Given the description of an element on the screen output the (x, y) to click on. 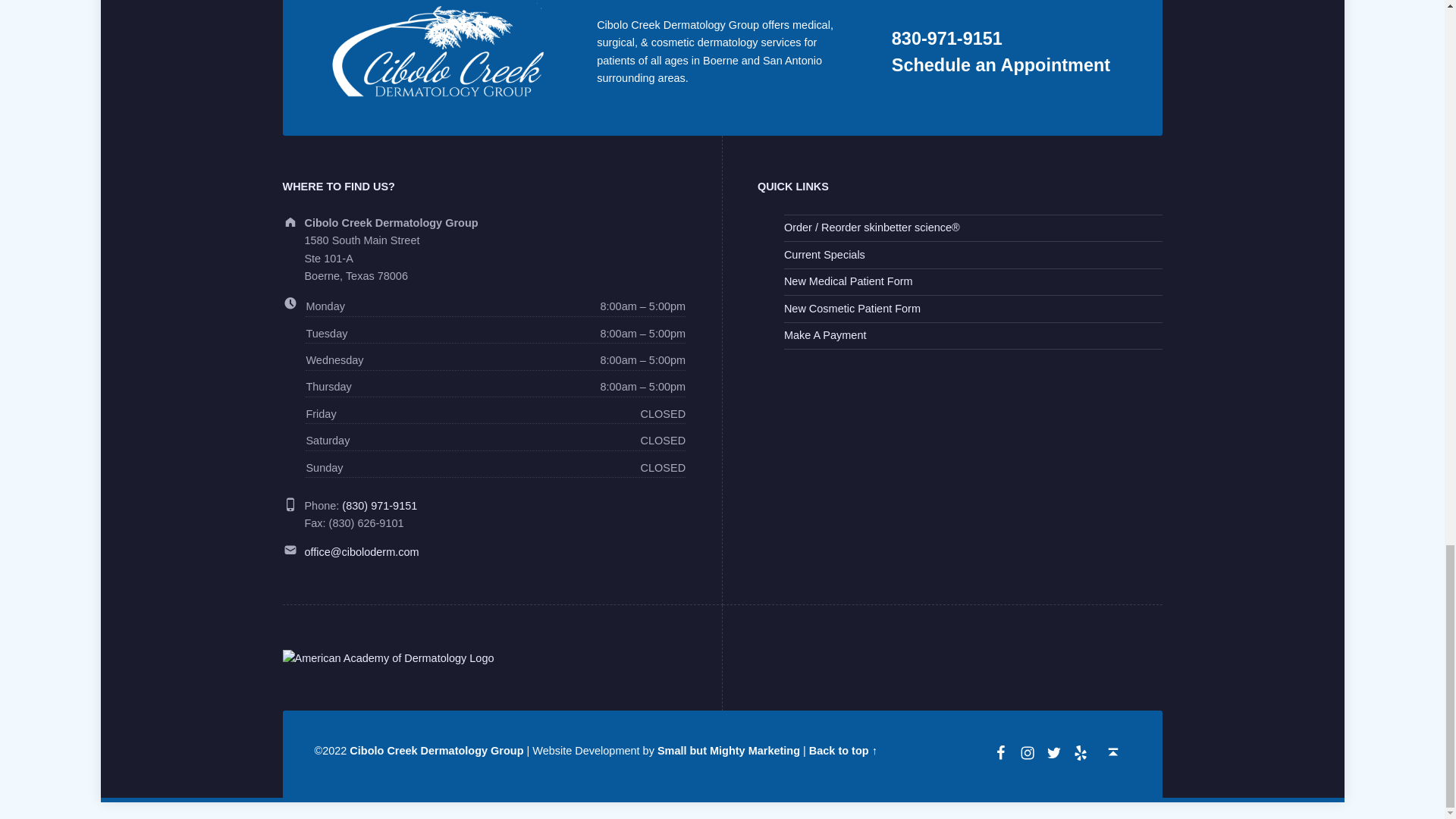
Back to top (1113, 752)
